Given the description of an element on the screen output the (x, y) to click on. 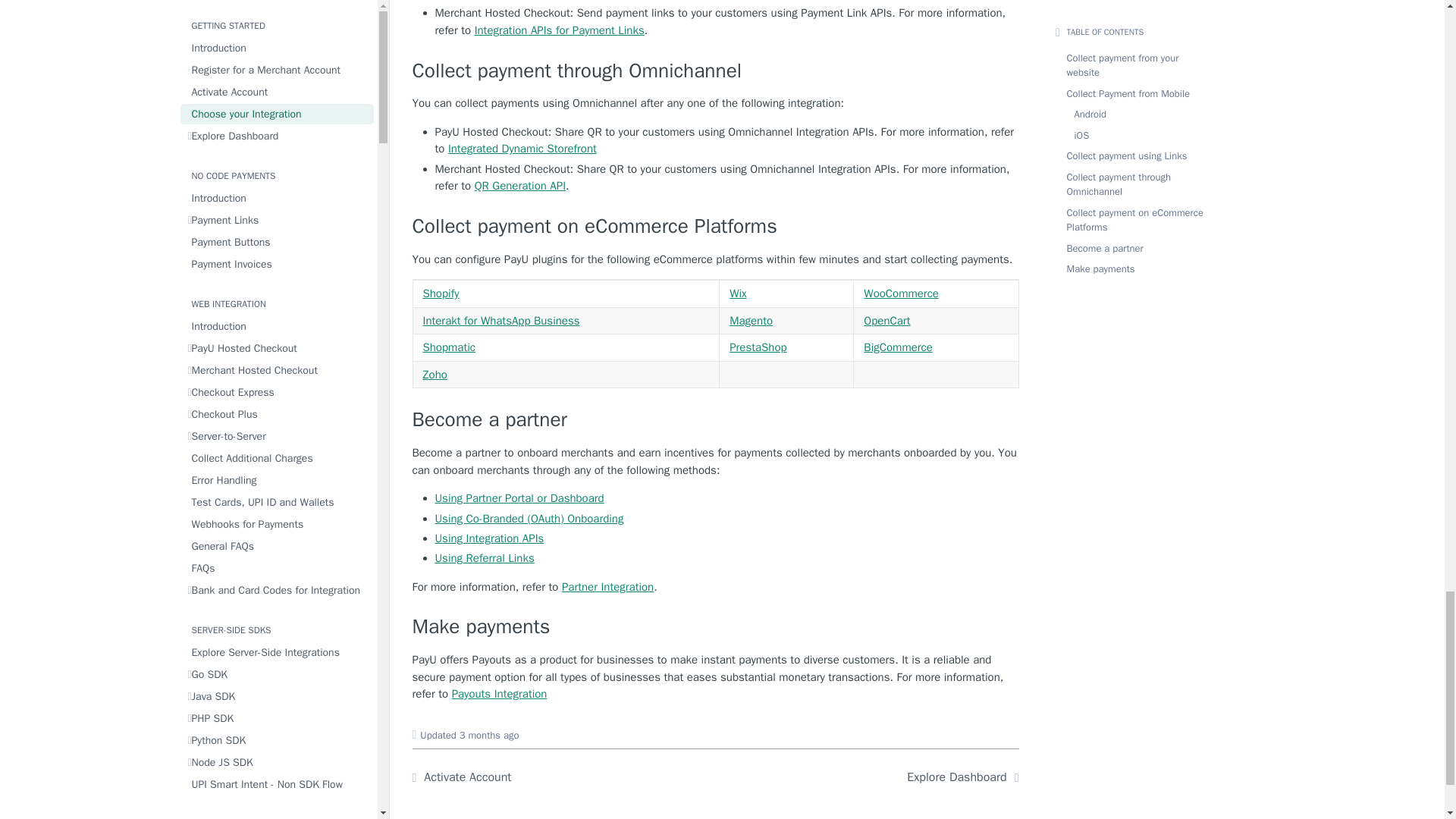
Collect payment on eCommerce Platforms (715, 226)
Make payments (715, 627)
Collect payment through Omnichannel (715, 71)
Become a partner (715, 420)
